Given the description of an element on the screen output the (x, y) to click on. 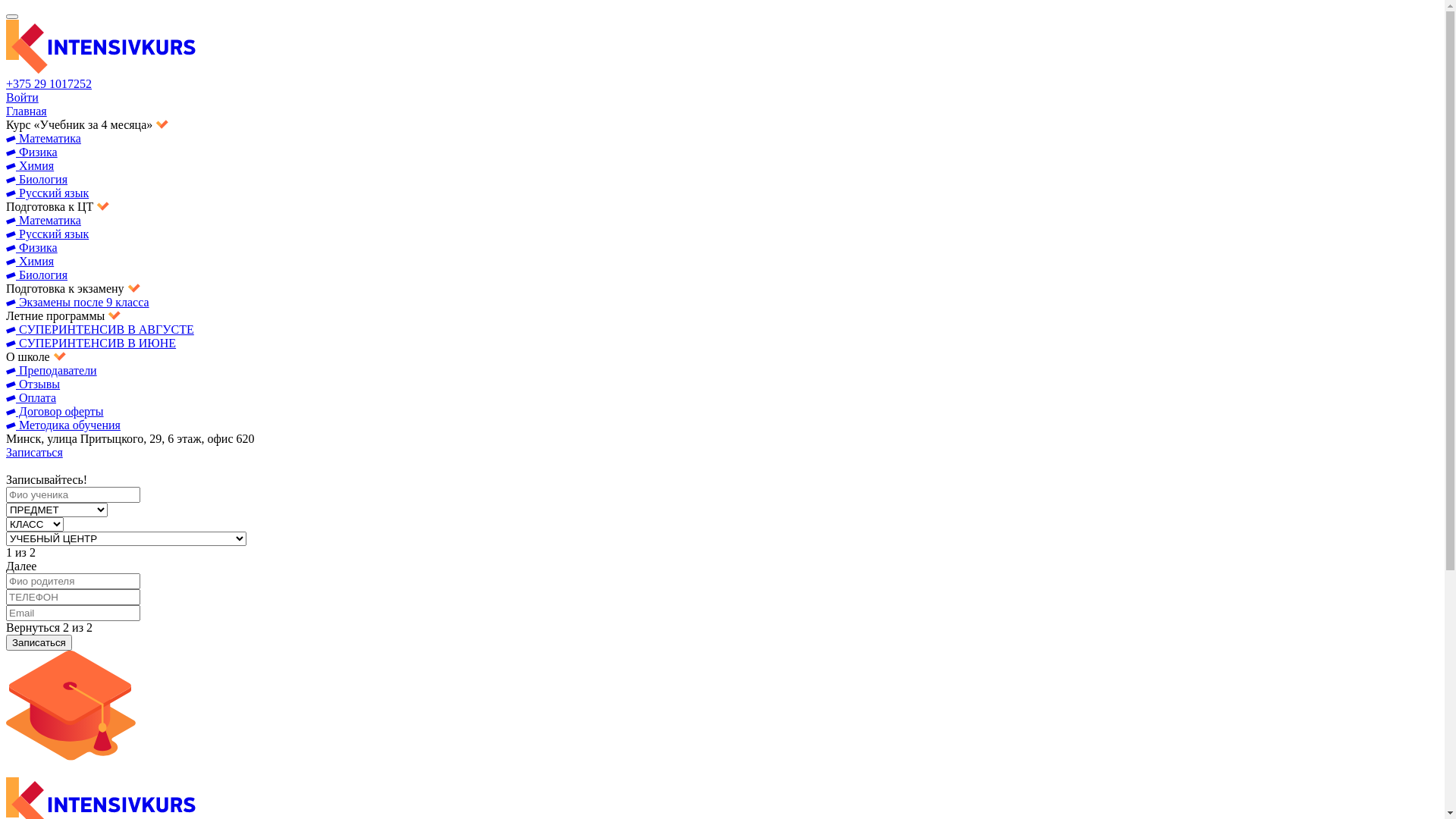
+375 29 1017252 Element type: text (48, 83)
